Given the description of an element on the screen output the (x, y) to click on. 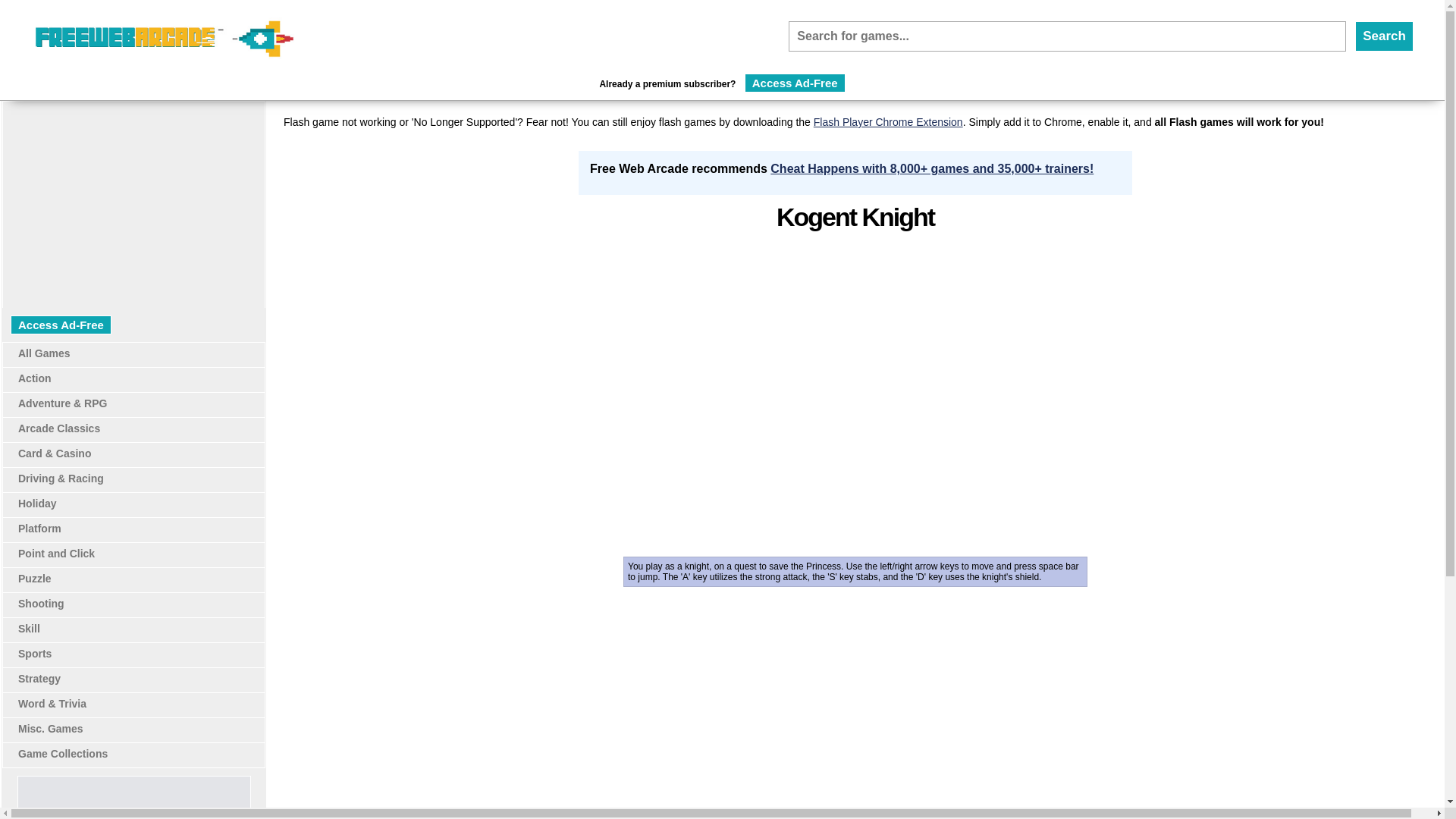
Puzzle (33, 578)
Holiday (36, 503)
Point and Click (55, 553)
Strategy (39, 678)
Action (33, 378)
Skill (28, 628)
Access Ad-Free (794, 82)
Shooting (40, 603)
Misc. Games (49, 728)
Platform (39, 528)
Sports (33, 653)
Flash Player Chrome Extension (887, 121)
Search (1384, 36)
Search (1384, 36)
All Games (43, 353)
